Given the description of an element on the screen output the (x, y) to click on. 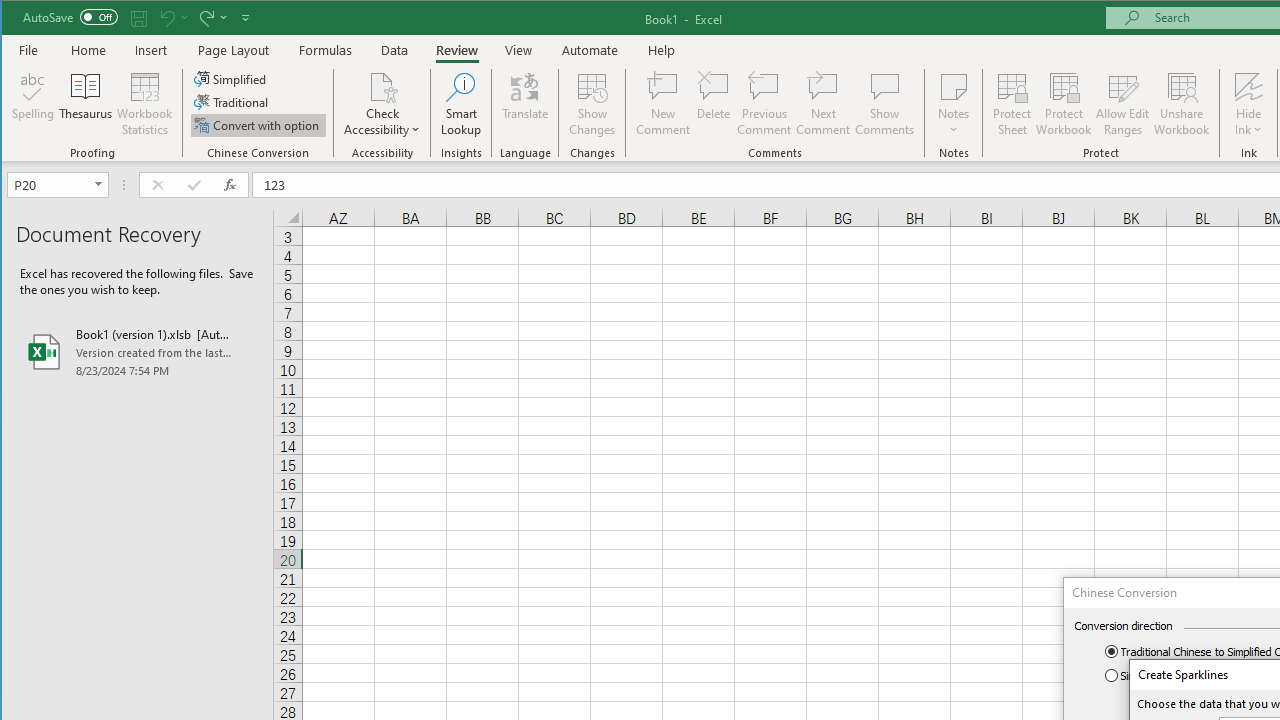
Show Comments (884, 104)
Hide Ink (1248, 86)
Unshare Workbook (1182, 104)
Protect Workbook... (1064, 104)
Show Changes (592, 104)
Allow Edit Ranges (1123, 104)
